Given the description of an element on the screen output the (x, y) to click on. 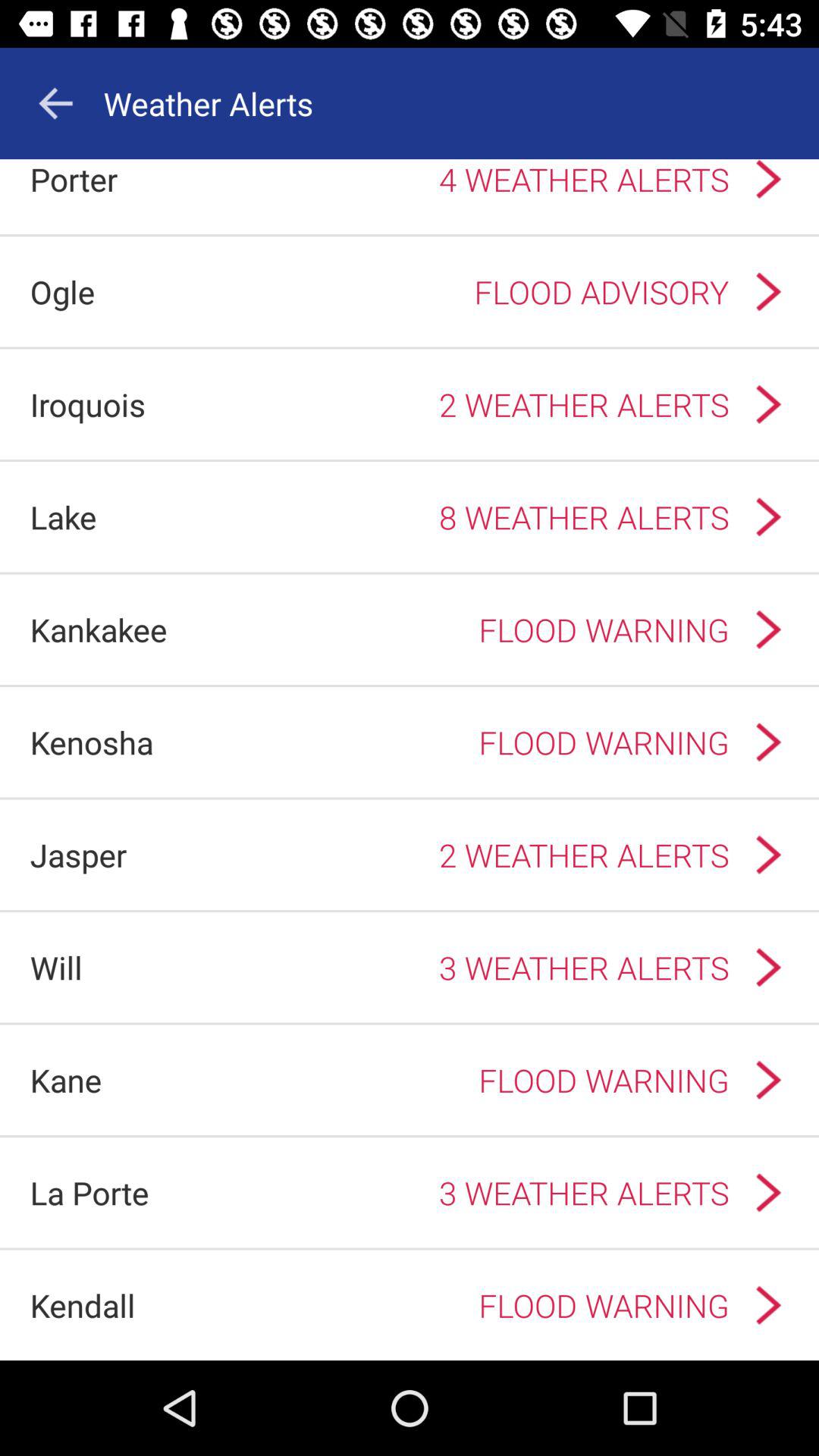
go to previous (55, 103)
